Given the description of an element on the screen output the (x, y) to click on. 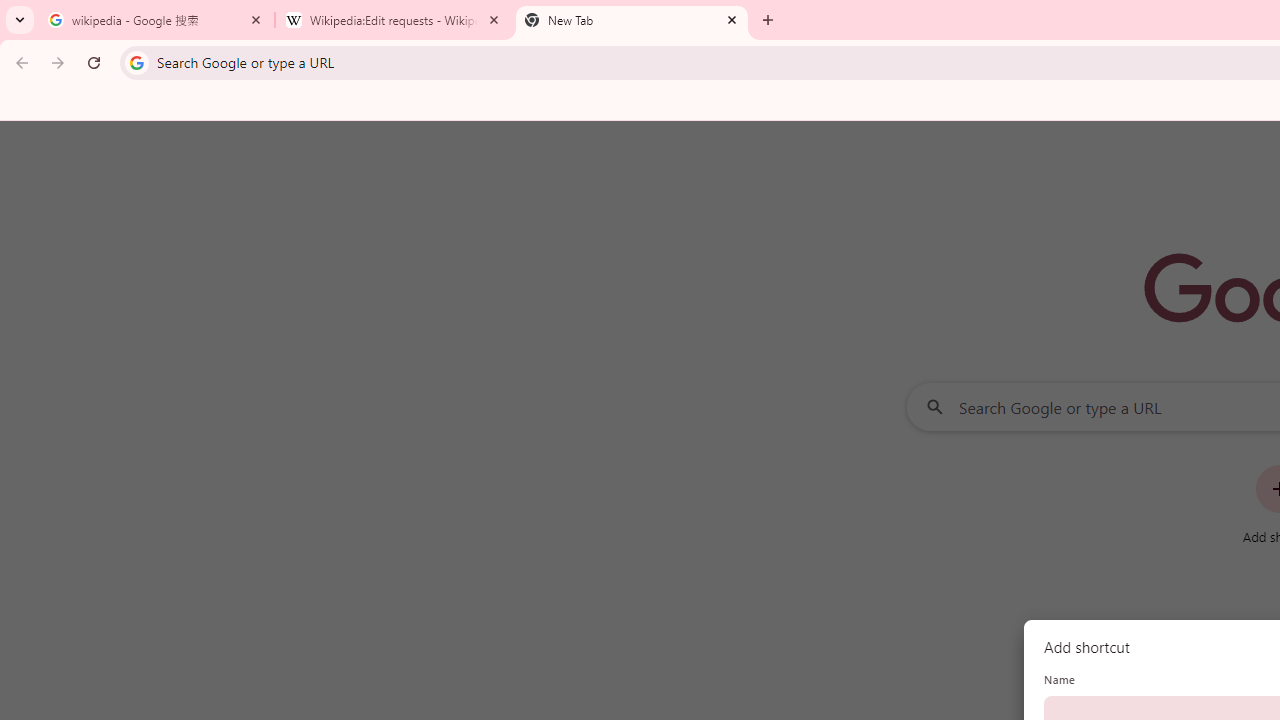
Close (732, 19)
Wikipedia:Edit requests - Wikipedia (394, 20)
New Tab (632, 20)
Search tabs (20, 20)
System (10, 11)
Back (19, 62)
New Tab (767, 20)
Search icon (136, 62)
Forward (57, 62)
System (10, 11)
Reload (93, 62)
